Given the description of an element on the screen output the (x, y) to click on. 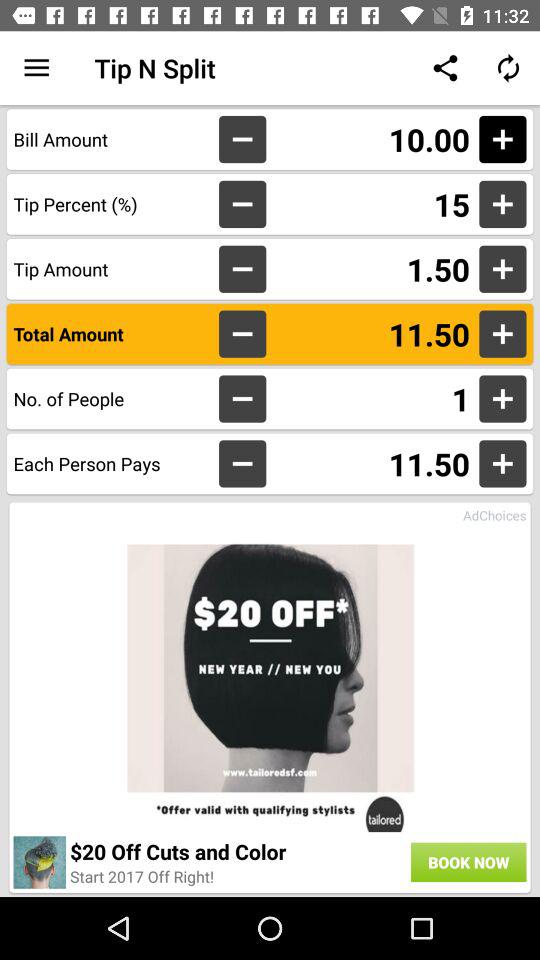
select the item to the left of 20 off cuts icon (39, 862)
